Given the description of an element on the screen output the (x, y) to click on. 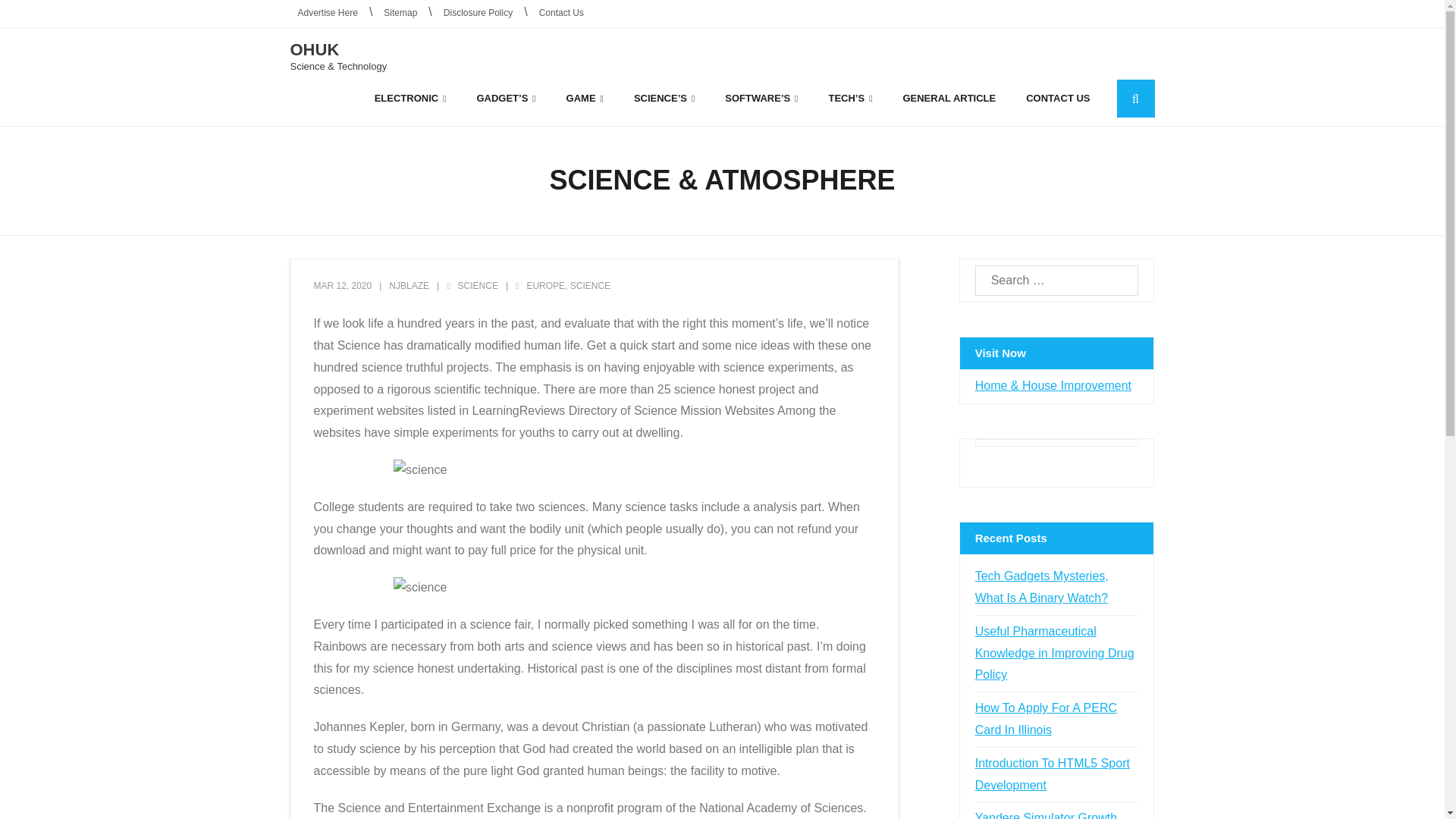
Advertise Here (327, 13)
OHUK (338, 50)
CONTACT US (1057, 98)
Disclosure Policy (477, 13)
ELECTRONIC (410, 98)
GAME (585, 98)
Contact Us (561, 13)
Sitemap (400, 13)
View all posts by Njblaze (408, 285)
Search (37, 15)
GENERAL ARTICLE (949, 98)
